Given the description of an element on the screen output the (x, y) to click on. 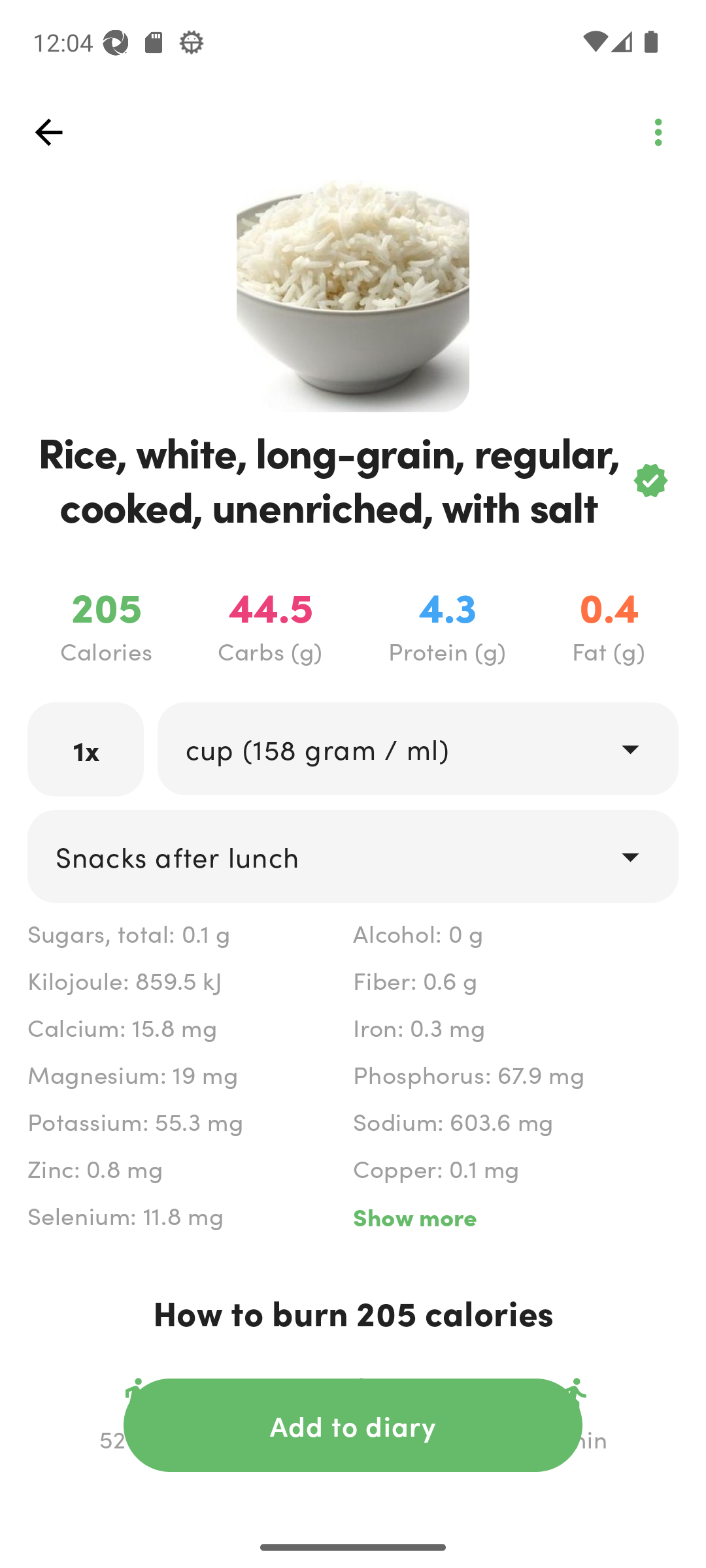
top_left_action (48, 132)
top_left_action (658, 132)
1x labeled_edit_text (85, 749)
drop_down cup (158 gram / ml) (417, 748)
drop_down Snacks after lunch (352, 856)
Show more (515, 1216)
action_button Add to diary (352, 1425)
